Given the description of an element on the screen output the (x, y) to click on. 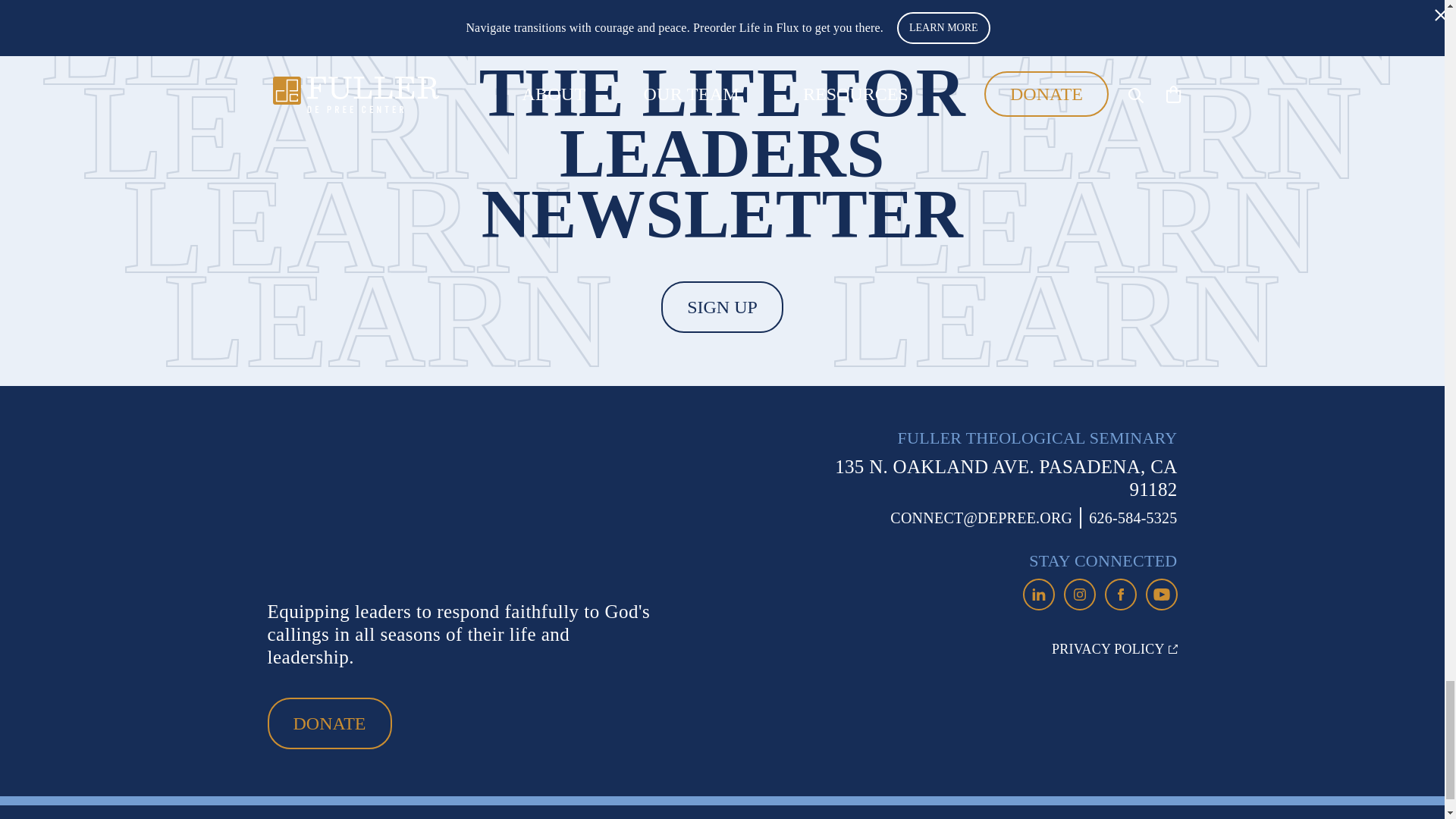
Return to Homepage (383, 505)
